Given the description of an element on the screen output the (x, y) to click on. 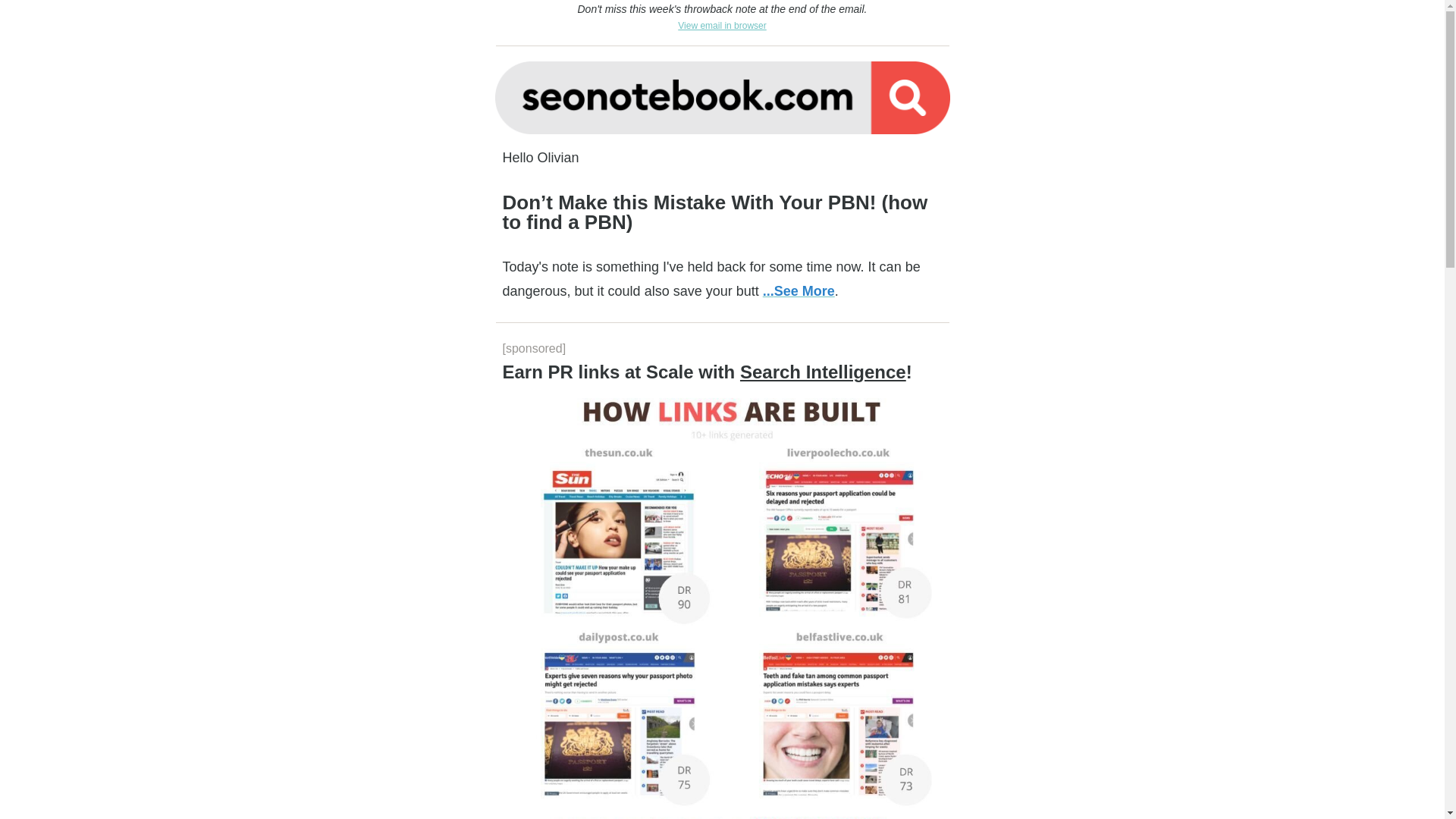
Search Intelligence (822, 371)
View email in browser (722, 24)
...See More (798, 291)
